Given the description of an element on the screen output the (x, y) to click on. 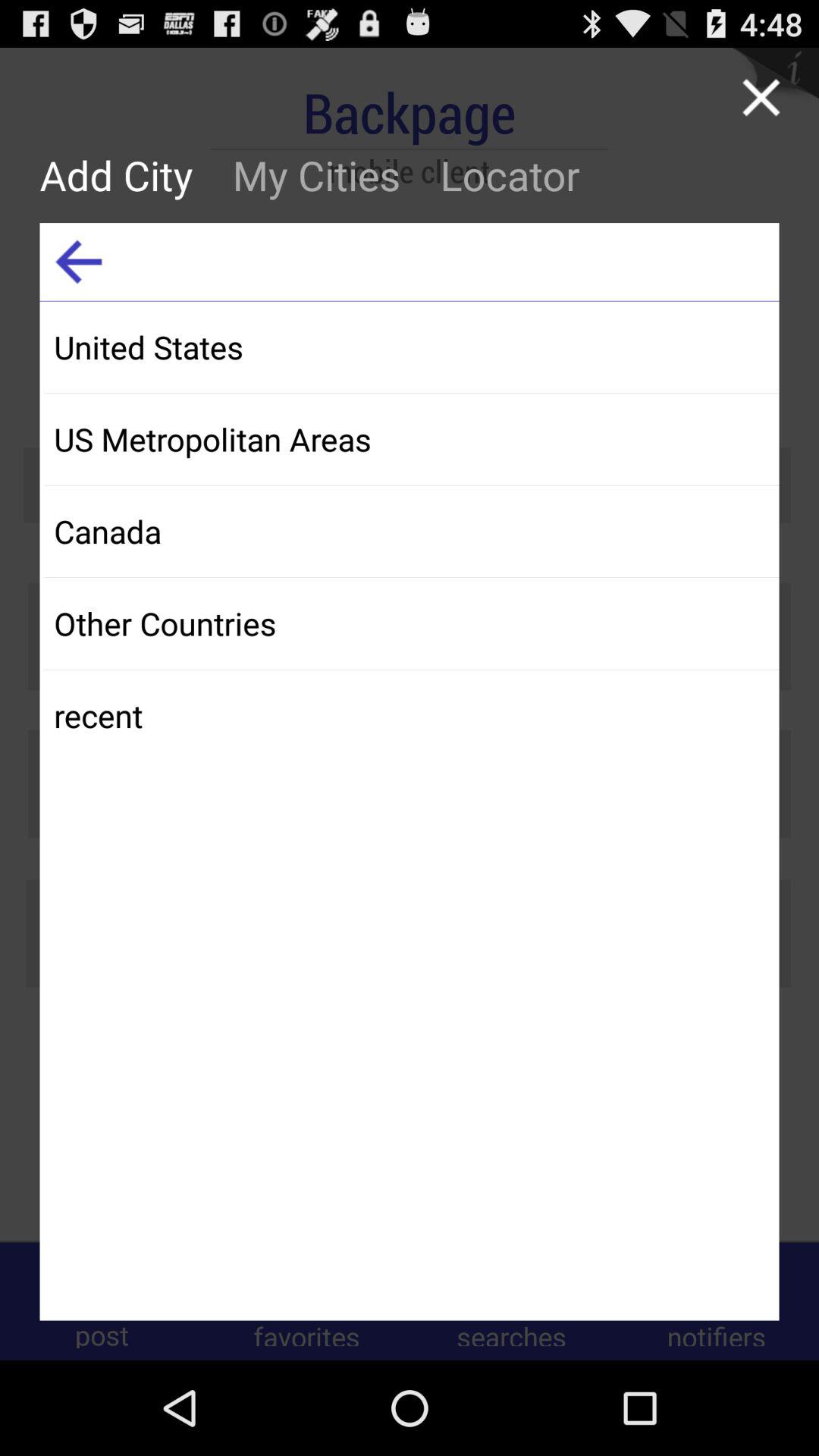
exit prompt (761, 97)
